Given the description of an element on the screen output the (x, y) to click on. 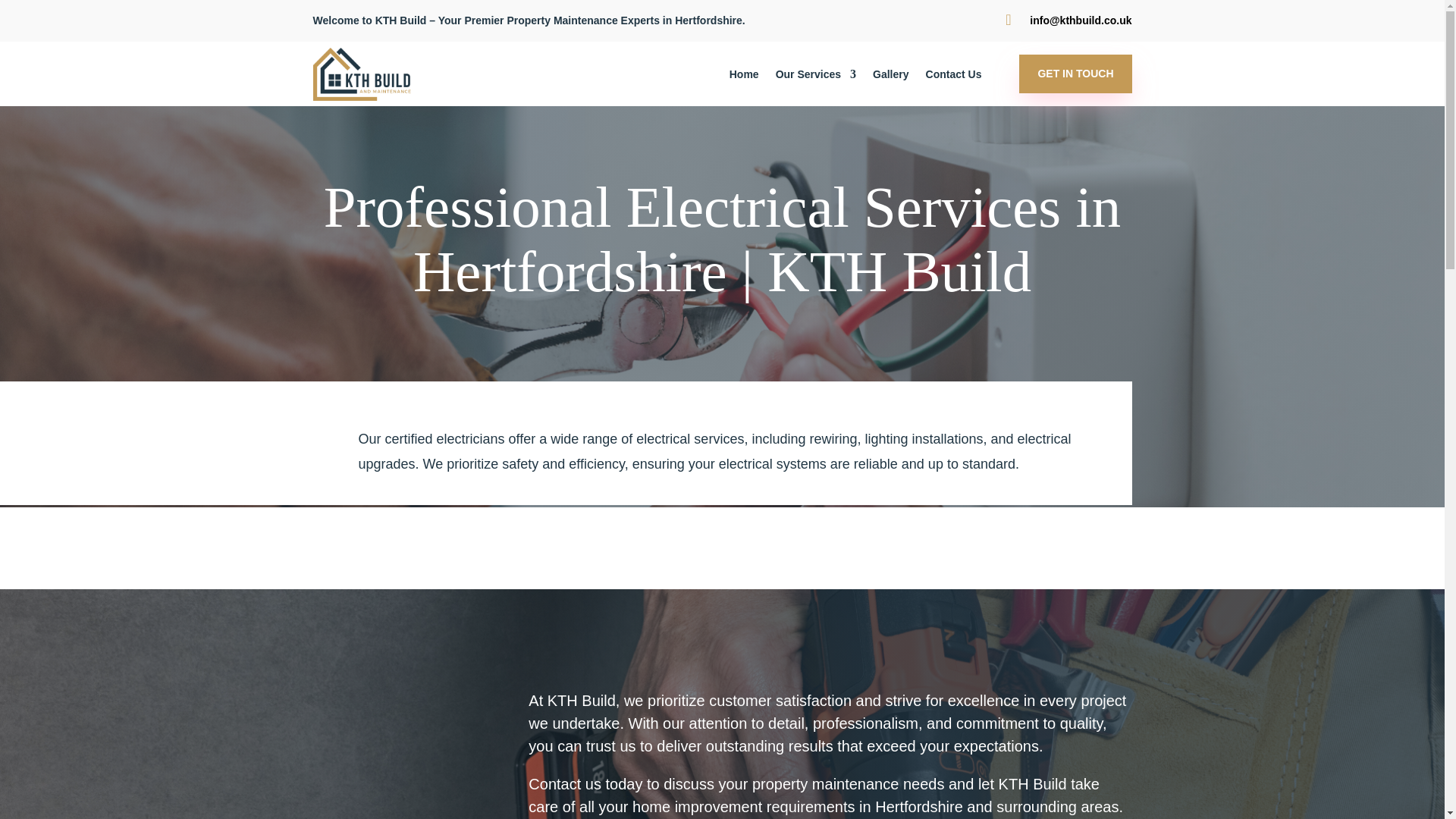
KTH Build and Property Maintenance Logo (362, 72)
Contact Us (953, 76)
Home (743, 76)
Our Services (816, 76)
Gallery (890, 76)
GET IN TOUCH (1075, 74)
